Given the description of an element on the screen output the (x, y) to click on. 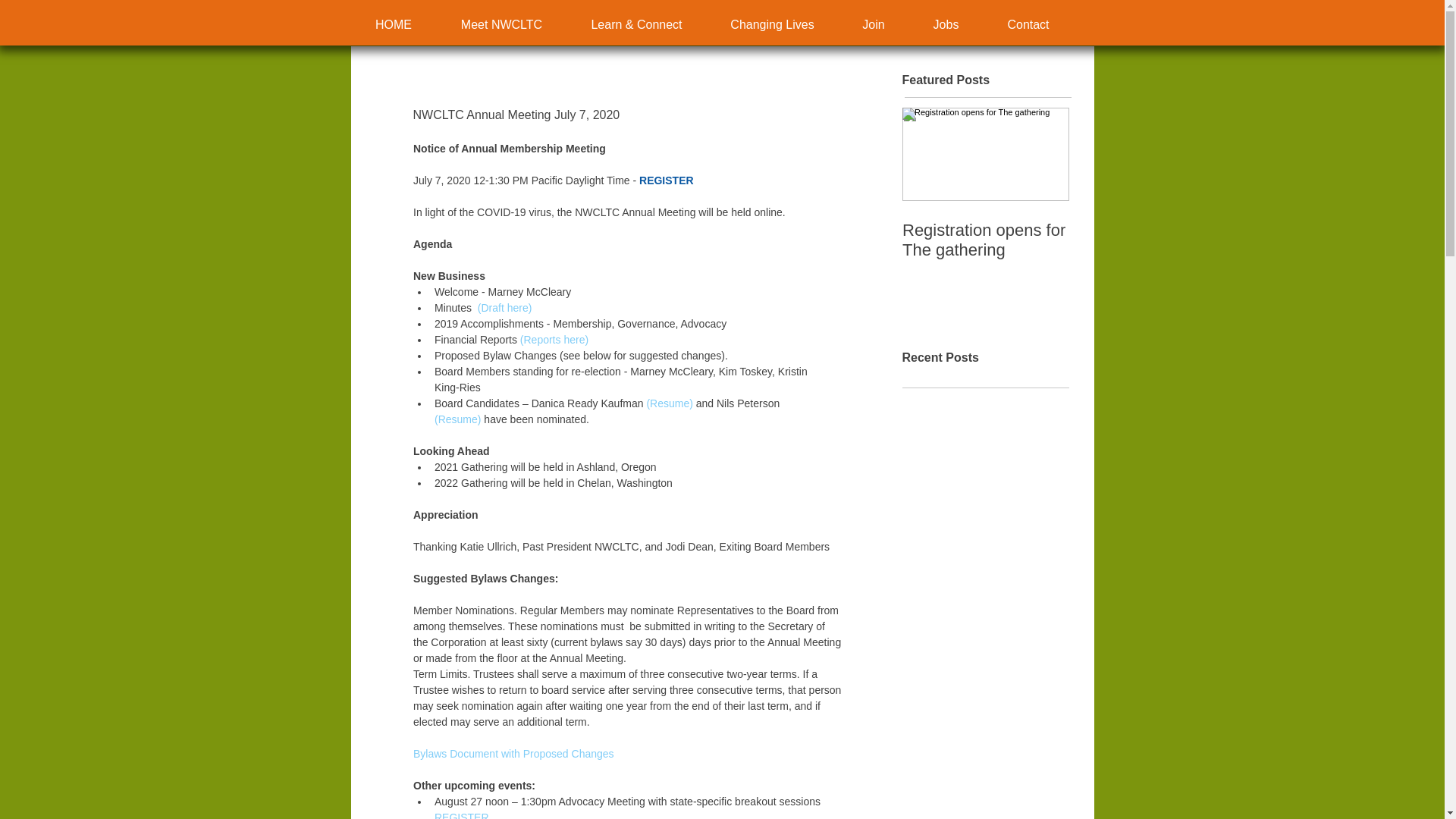
Registration opens for The gathering (985, 240)
Meet NWCLTC (501, 24)
HOME (392, 24)
Jobs (945, 24)
Join (873, 24)
Contact (1027, 24)
REGISTER (666, 180)
REGISTER (460, 815)
Bylaws Document with Proposed Changes (512, 753)
Changing Lives (772, 24)
